Given the description of an element on the screen output the (x, y) to click on. 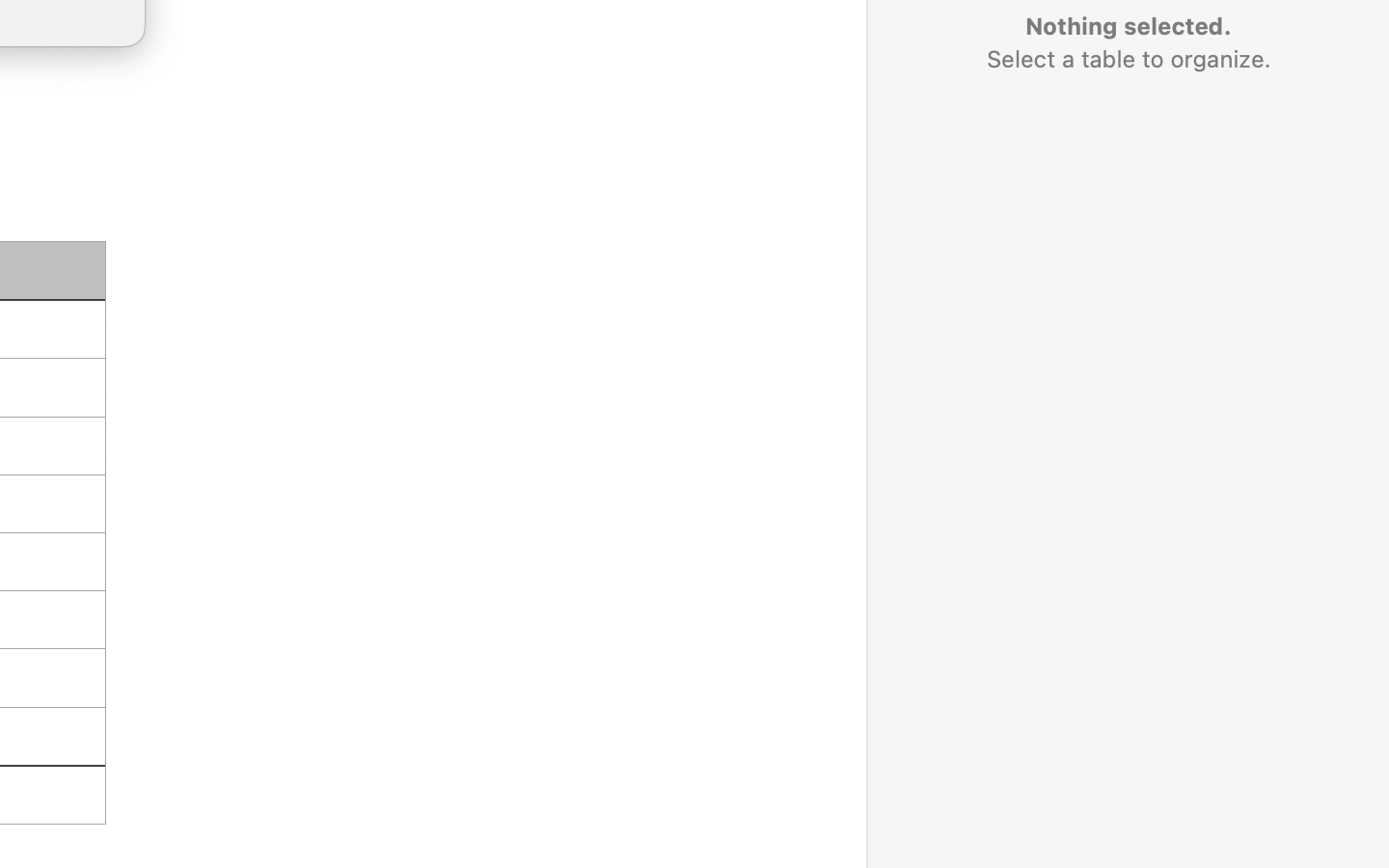
Nothing selected. Element type: AXStaticText (1127, 25)
Select a table to organize. Element type: AXStaticText (1127, 58)
